Given the description of an element on the screen output the (x, y) to click on. 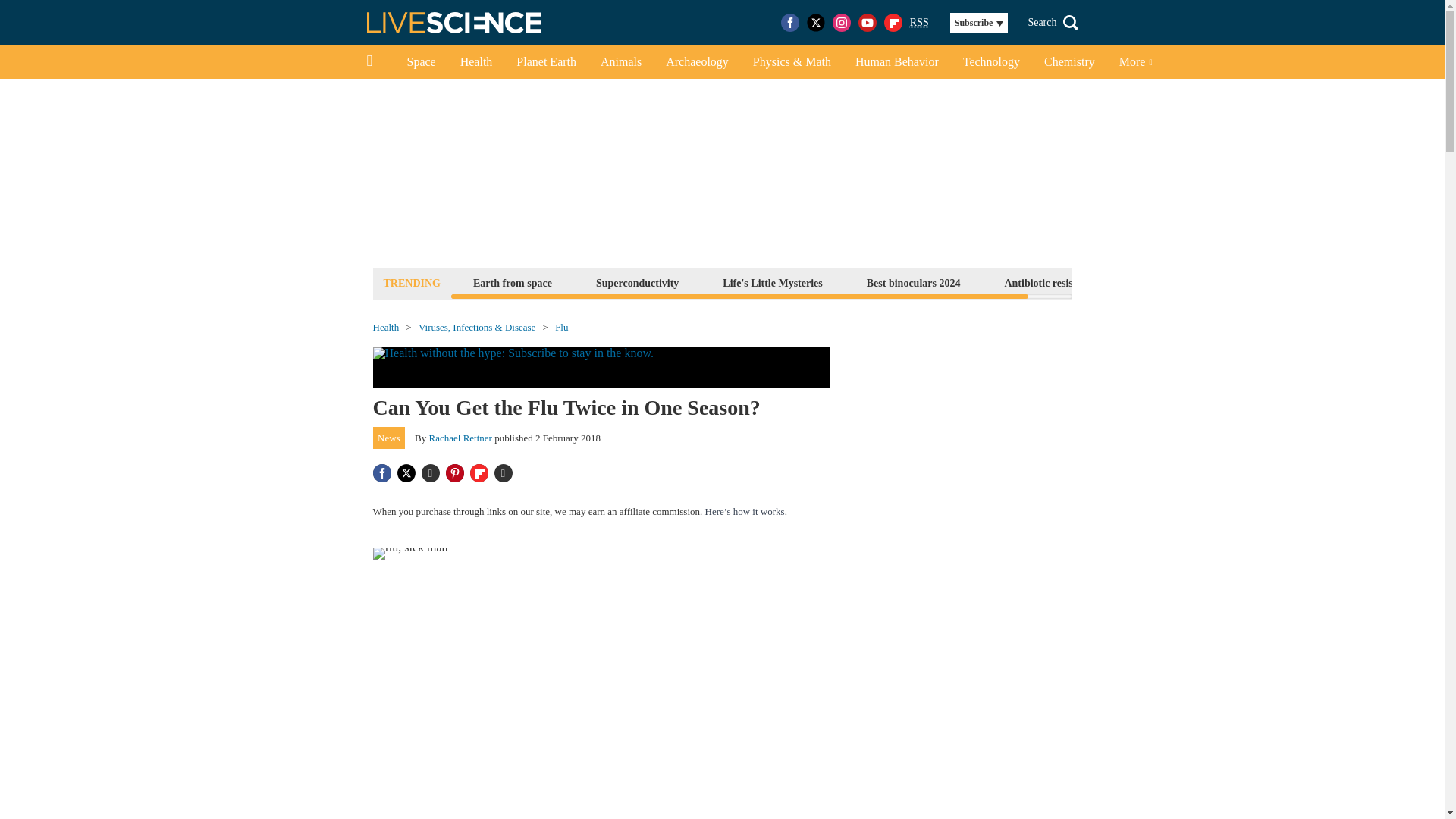
Superconductivity (637, 282)
Life's Little Mysteries (772, 282)
Health (476, 61)
Planet Earth (545, 61)
Chemistry (1069, 61)
Archaeology (697, 61)
Antibiotic resistance (1050, 282)
Really Simple Syndication (919, 21)
Technology (991, 61)
Human Behavior (896, 61)
